Given the description of an element on the screen output the (x, y) to click on. 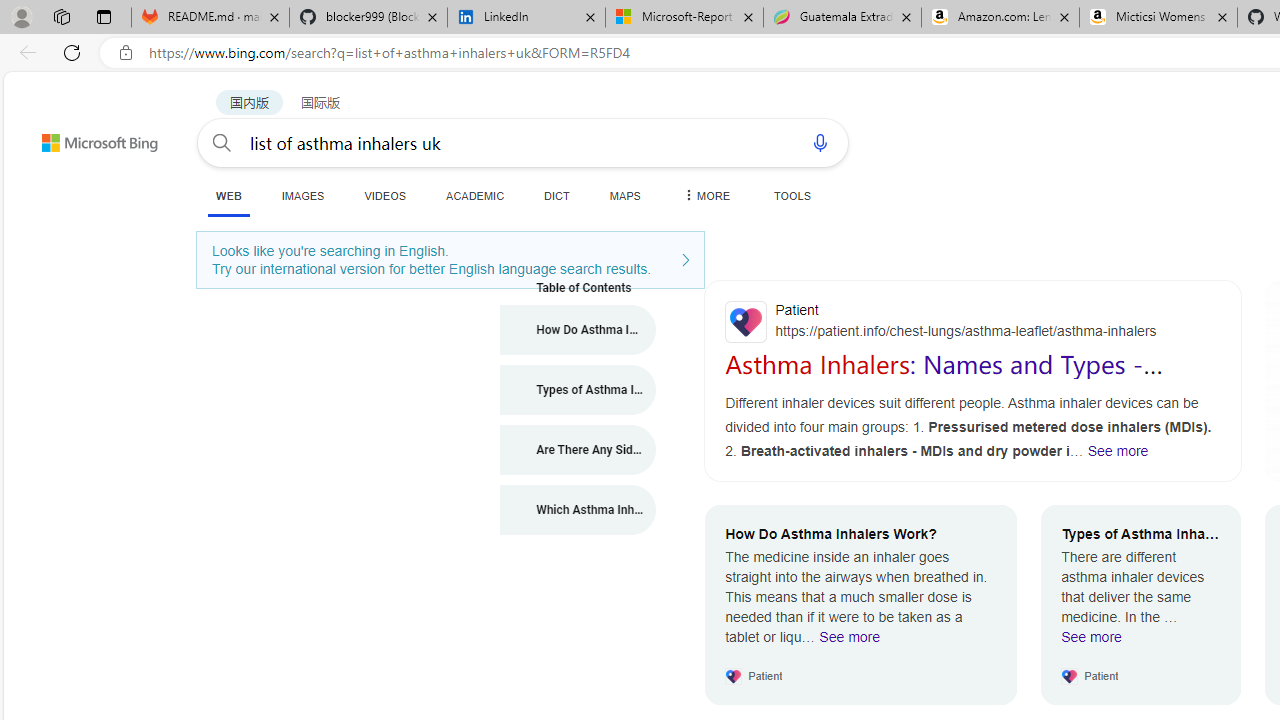
DICT (557, 195)
Back to Bing search (87, 138)
WEB (228, 195)
Search using voice (820, 142)
MORE (705, 195)
Are There Any Side-Effects from Asthma Inhalers? (578, 449)
Types of Asthma Inhalers (578, 389)
